Given the description of an element on the screen output the (x, y) to click on. 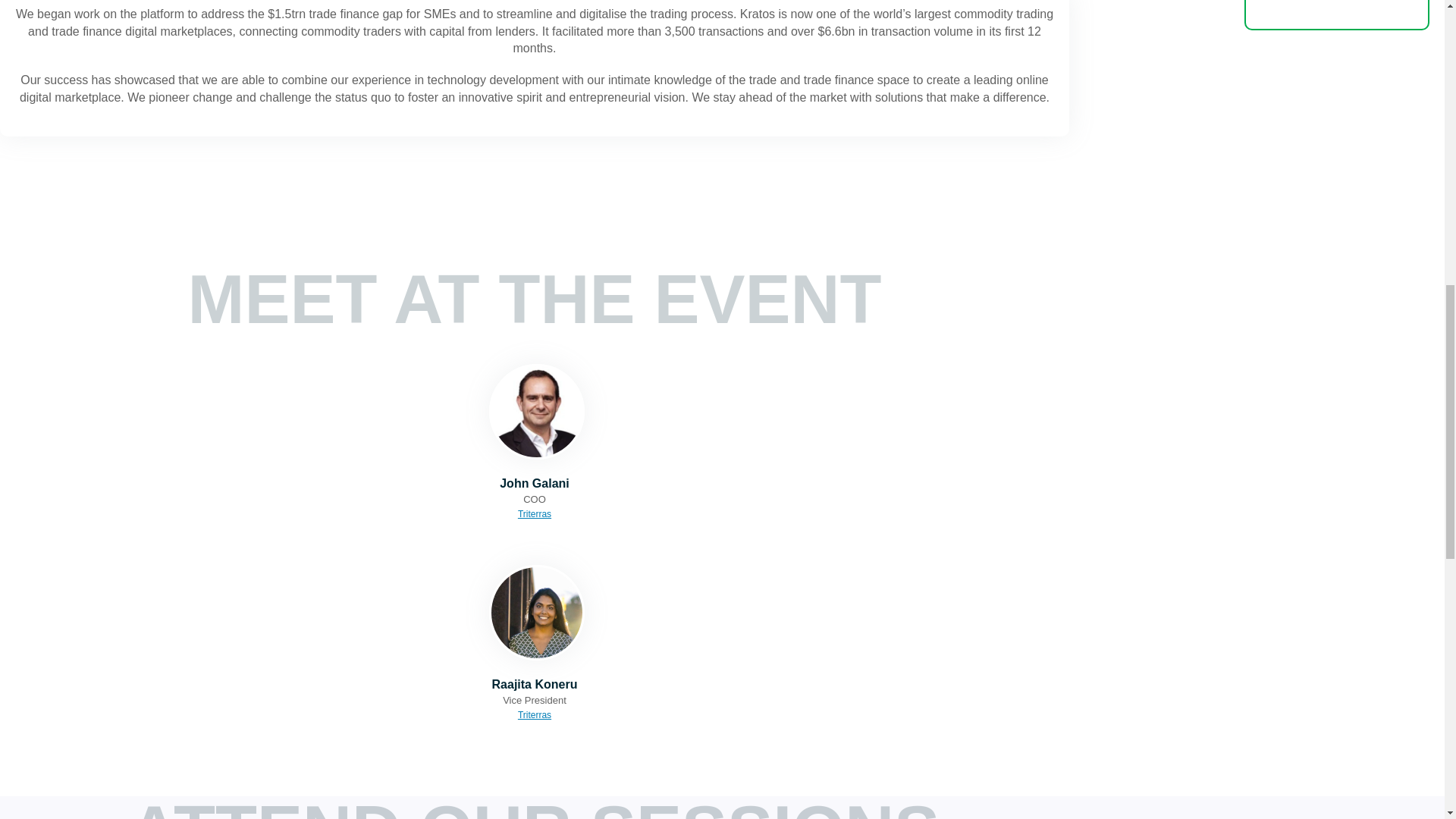
Triterras (534, 513)
Triterras (534, 715)
WATCH ON DEMAND (1336, 15)
